Given the description of an element on the screen output the (x, y) to click on. 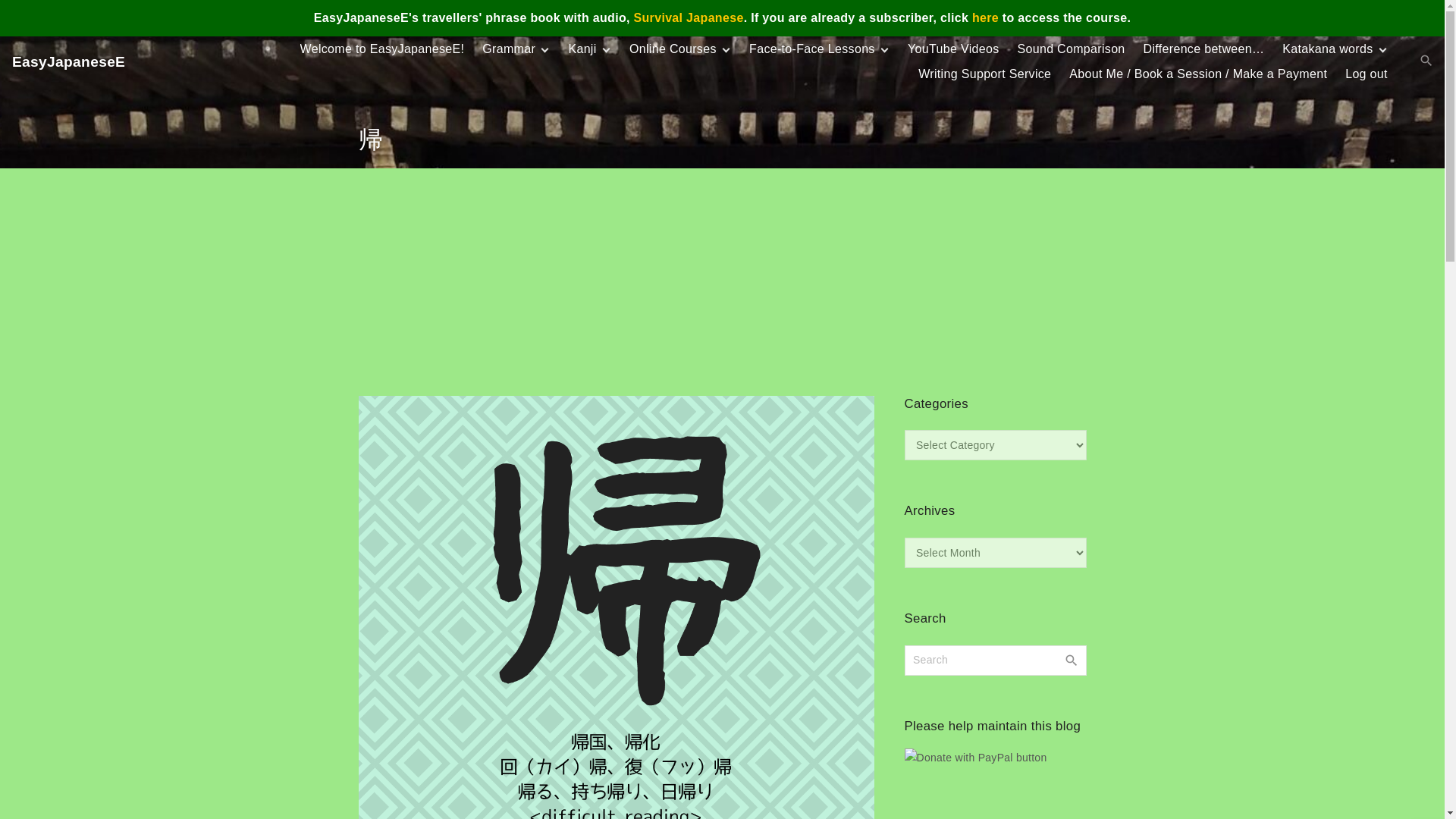
here (985, 17)
Sound Comparison (1070, 49)
YouTube Videos (952, 49)
Face-to-Face Lessons (812, 49)
Kanji (581, 49)
Online Courses (672, 49)
EasyJapaneseE (68, 61)
PayPal - The safer, easier way to pay online! (975, 757)
Welcome to EasyJapaneseE! (381, 49)
Grammar (508, 49)
